Given the description of an element on the screen output the (x, y) to click on. 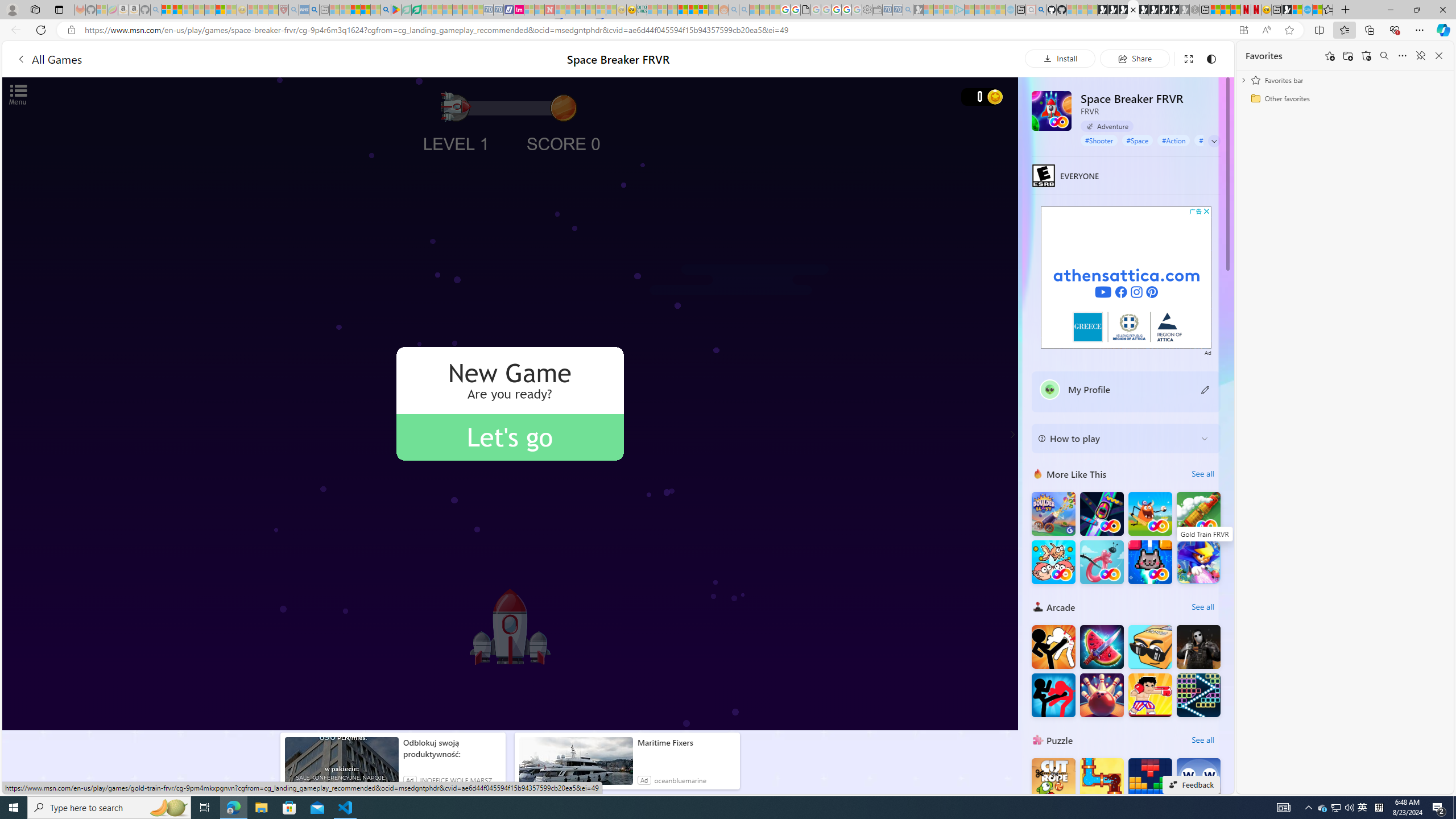
""'s avatar (1049, 389)
See all (1202, 739)
Kitten Force FRVR (1149, 562)
Balloon FRVR (1101, 562)
Play Free Online Games | Games from Microsoft Start (1102, 9)
